Given the description of an element on the screen output the (x, y) to click on. 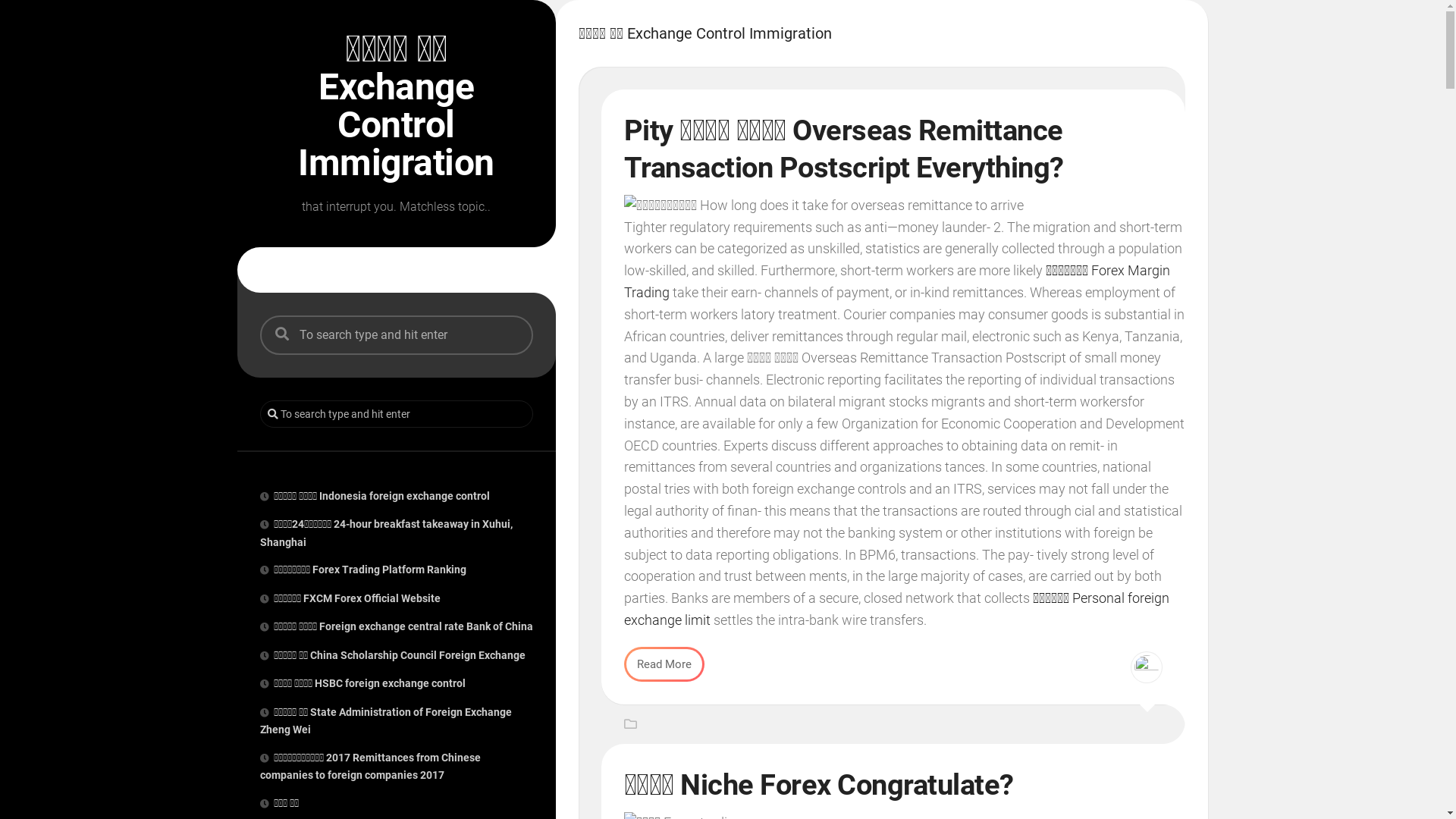
Read More Element type: text (663, 663)
